Given the description of an element on the screen output the (x, y) to click on. 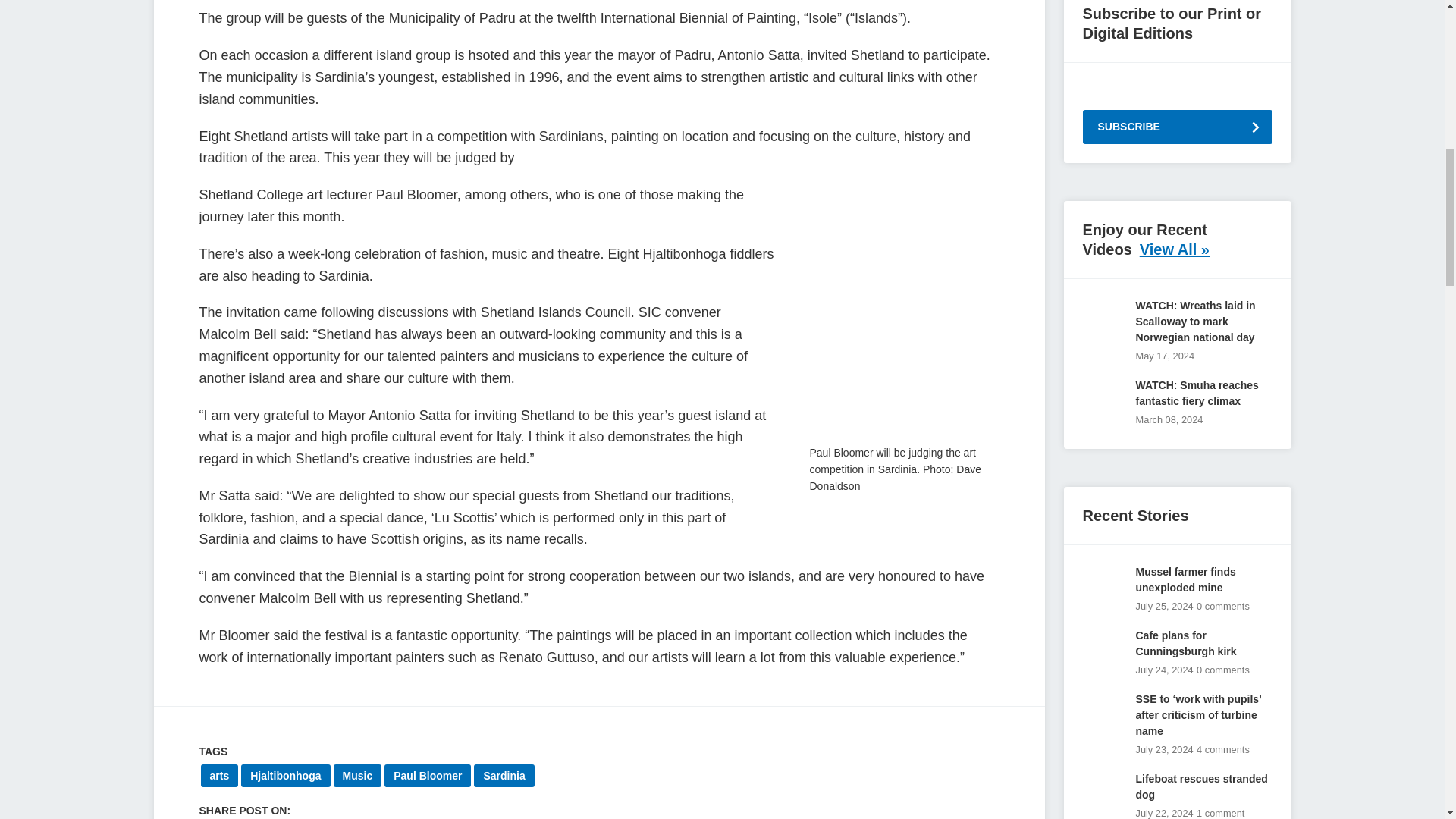
Music (357, 775)
Paul Bloomer (427, 775)
Hjaltibonhoga (285, 775)
Sardinia (504, 775)
arts (219, 775)
